Given the description of an element on the screen output the (x, y) to click on. 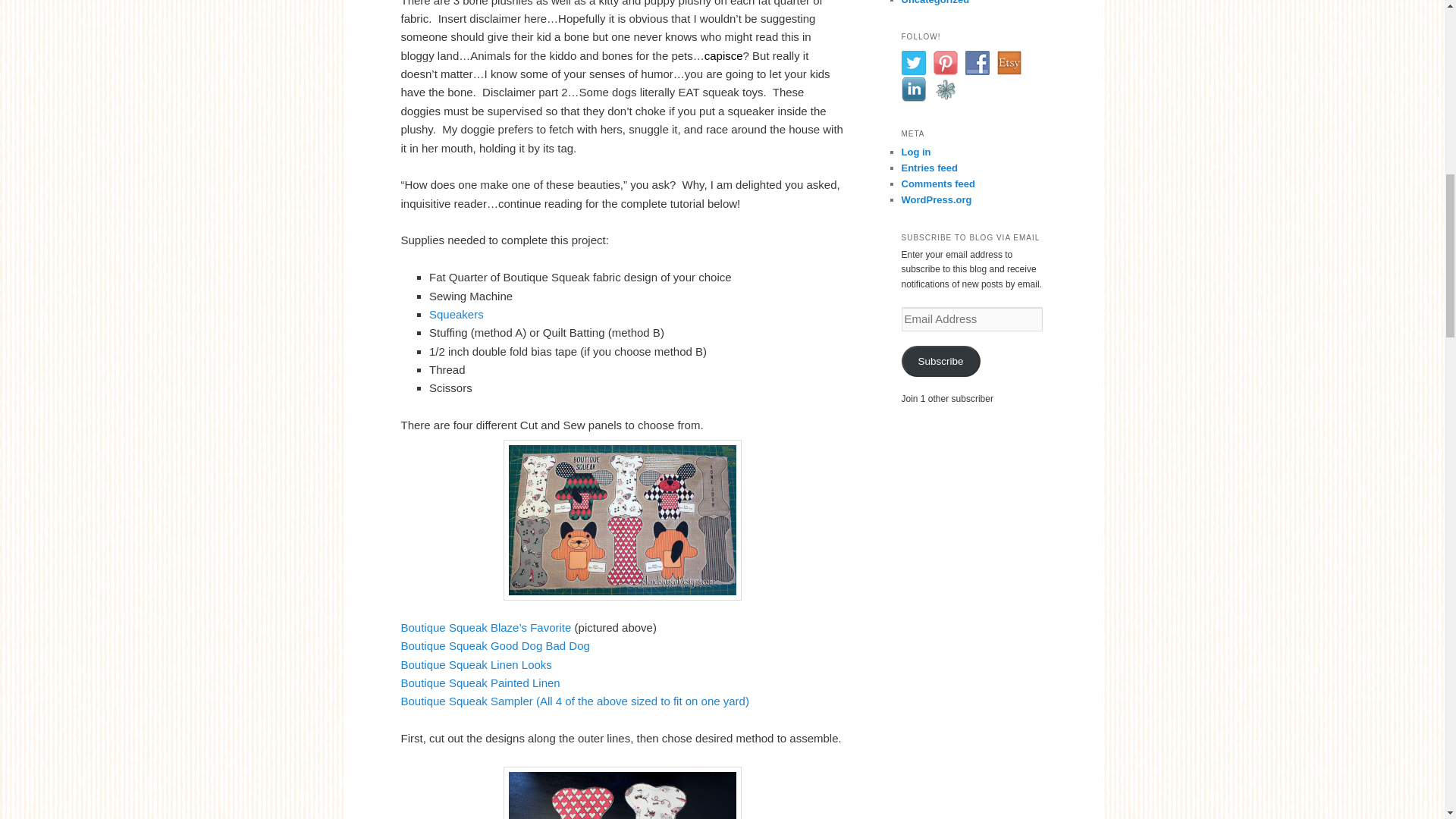
Boutique Squeak Good Dog Bad Dog (494, 645)
Small Squeakers (456, 314)
Boutique Squeak Painted Linen (479, 682)
Squeakers (456, 314)
 Spoonflower (944, 88)
 Etsy (1007, 62)
Boutique Squeak Linen Looks (475, 664)
 Facebook (975, 62)
 Twitter (912, 62)
 LinkedIn (912, 88)
 Pinterest (944, 62)
